Given the description of an element on the screen output the (x, y) to click on. 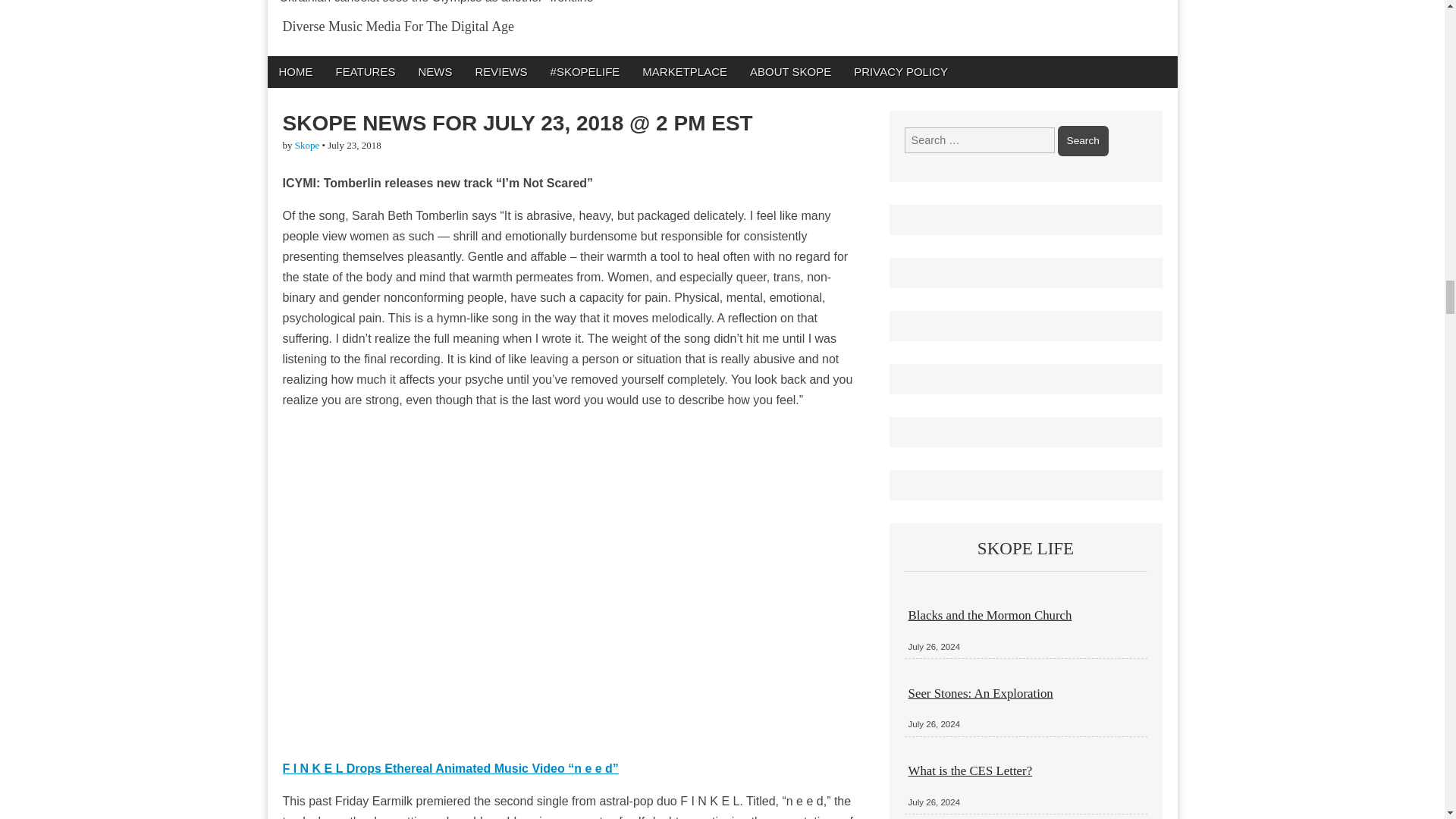
Posts by Skope (307, 144)
Skope (307, 144)
What is the CES Letter? (970, 770)
PRIVACY POLICY (901, 71)
HOME (294, 71)
ABOUT SKOPE (790, 71)
Blacks and the Mormon Church (989, 615)
Seer Stones: An Exploration (980, 693)
Search (1083, 141)
Search (1083, 141)
REVIEWS (500, 71)
Search (1083, 141)
NEWS (434, 71)
